Given the description of an element on the screen output the (x, y) to click on. 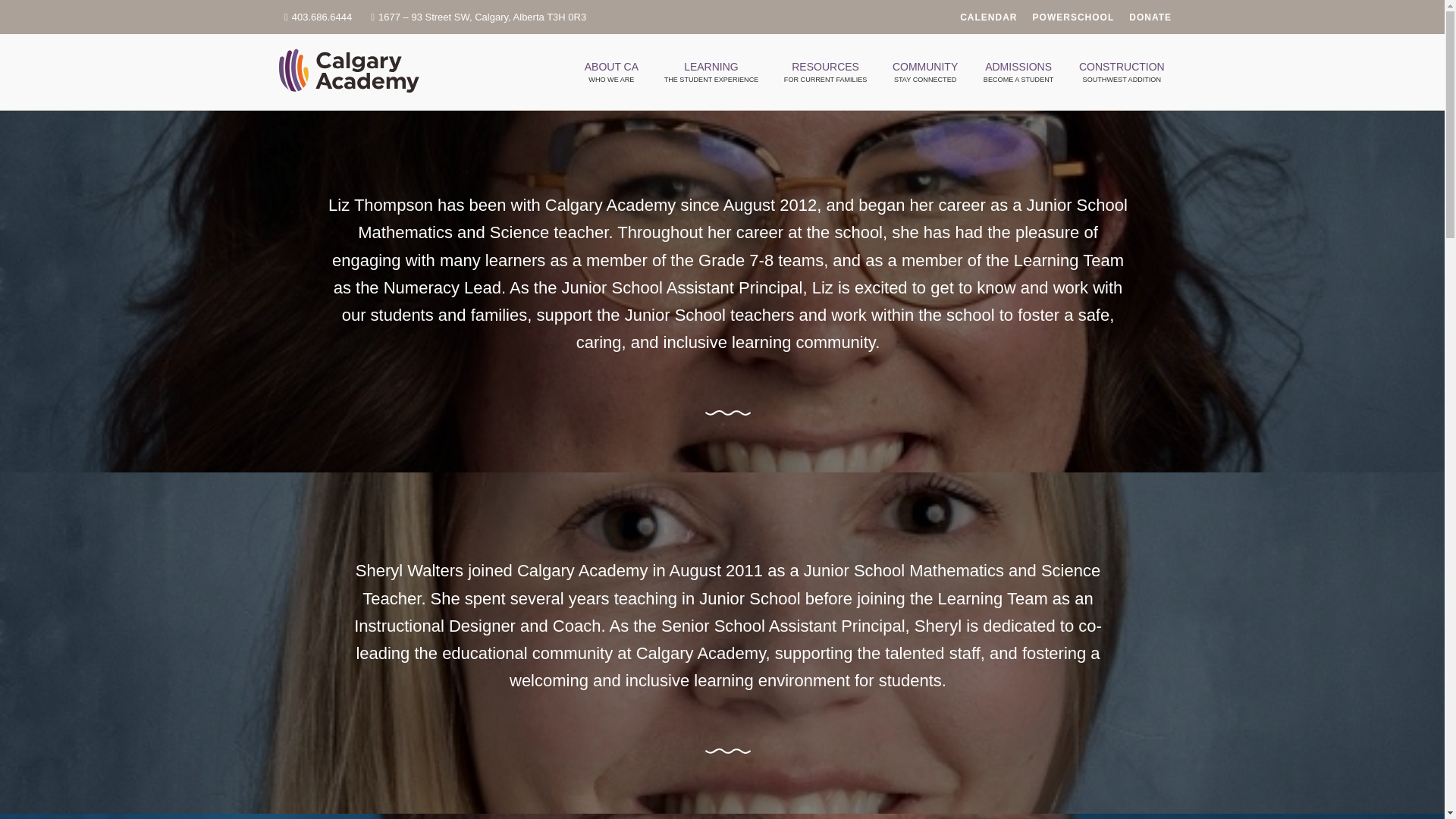
CALENDAR (987, 17)
DONATE (1150, 17)
POWERSCHOOL (1065, 16)
